Given the description of an element on the screen output the (x, y) to click on. 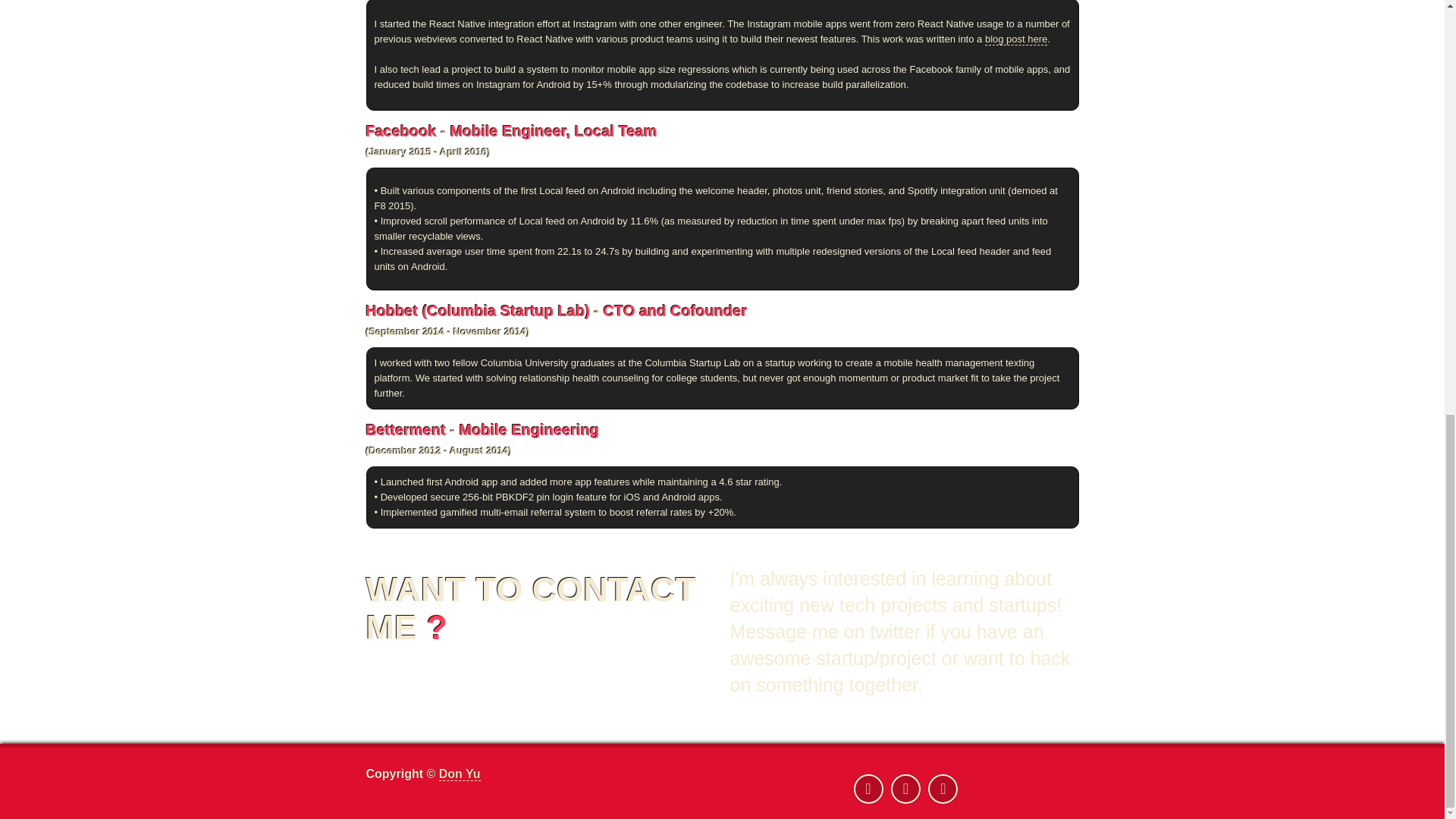
blog post here (1015, 39)
Don Yu (459, 774)
